Given the description of an element on the screen output the (x, y) to click on. 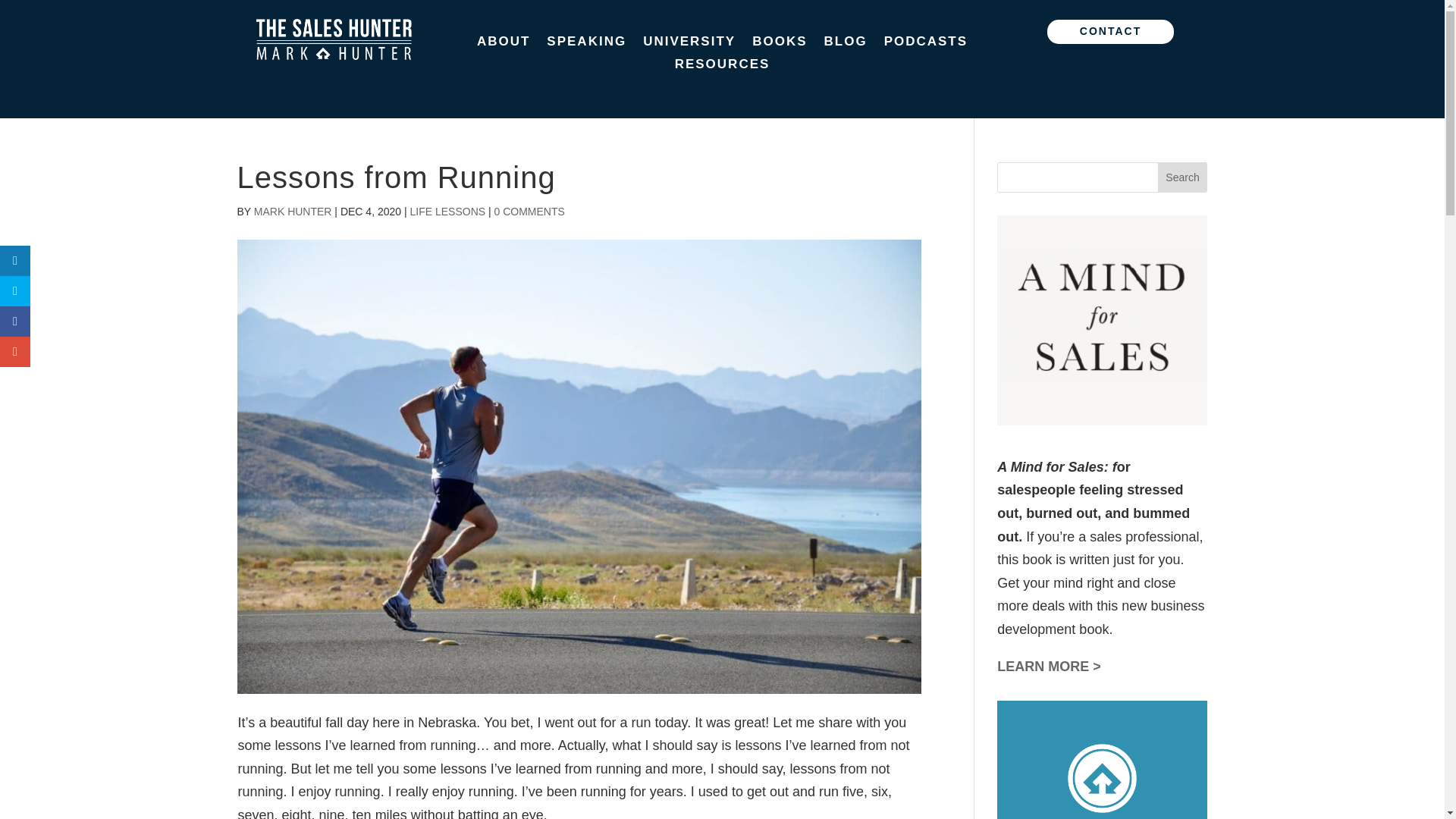
Posts by Mark Hunter (292, 211)
0 COMMENTS (529, 211)
Search (1182, 177)
LIFE LESSONS (446, 211)
BOOKS (779, 44)
UNIVERSITY (689, 44)
RESOURCES (722, 67)
CONTACT (1109, 31)
PODCASTS (925, 44)
BLOG (845, 44)
SPEAKING (586, 44)
MARK HUNTER (292, 211)
ABOUT (503, 44)
